Given the description of an element on the screen output the (x, y) to click on. 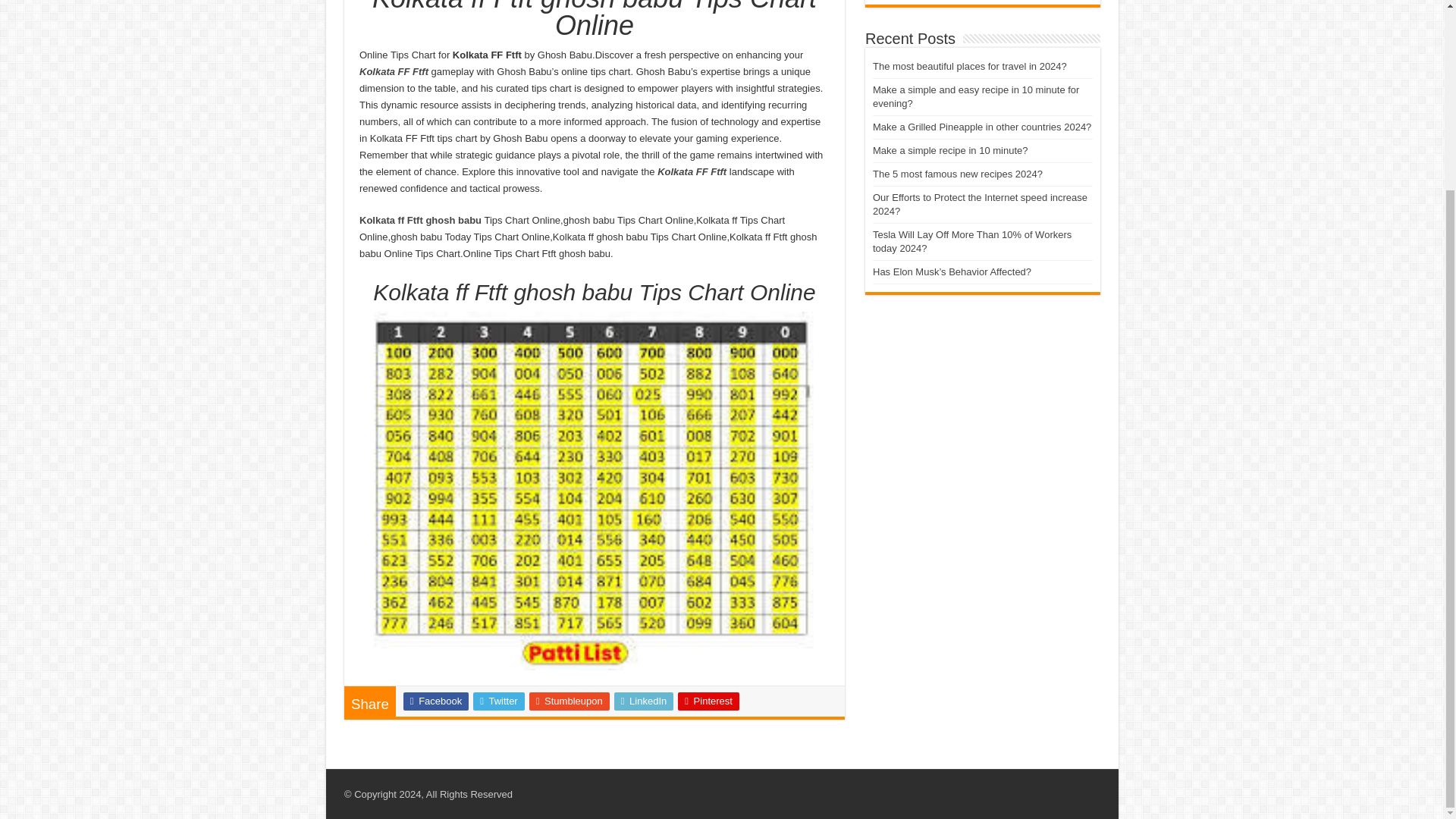
Make a simple and easy recipe in 10 minute for evening? (975, 96)
Kolkata FF Ftft (692, 171)
Facebook (435, 701)
LinkedIn (644, 701)
Kolkata FF Ftft (393, 71)
Twitter (498, 701)
The most beautiful places for travel in 2024? (969, 66)
The 5 most famous new recipes 2024? (957, 173)
Pinterest (708, 701)
Make a Grilled Pineapple in other countries 2024? (981, 126)
Kolkata ff Ftft ghosh babu (420, 220)
Our Efforts to Protect the Internet speed increase 2024? (979, 204)
Stumbleupon (569, 701)
Make a simple recipe in 10 minute? (949, 150)
